Given the description of an element on the screen output the (x, y) to click on. 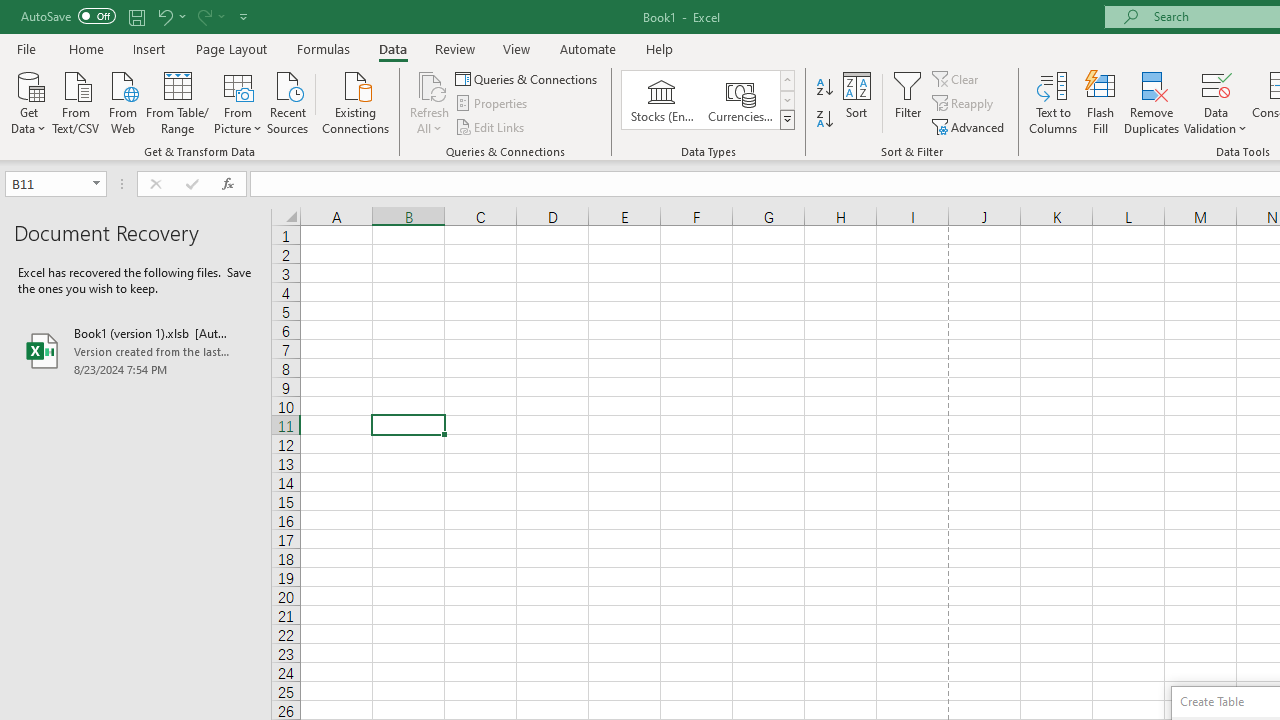
Properties (492, 103)
Automate (588, 48)
File Tab (26, 48)
Row up (786, 79)
AutoSave (68, 16)
AutomationID: ConvertToLinkedEntity (708, 99)
Insert (149, 48)
Redo (209, 15)
Undo (170, 15)
Refresh All (429, 102)
Reapply (964, 103)
Remove Duplicates (1151, 102)
Data Types (786, 120)
Data Validation... (1215, 102)
Filter (908, 102)
